Given the description of an element on the screen output the (x, y) to click on. 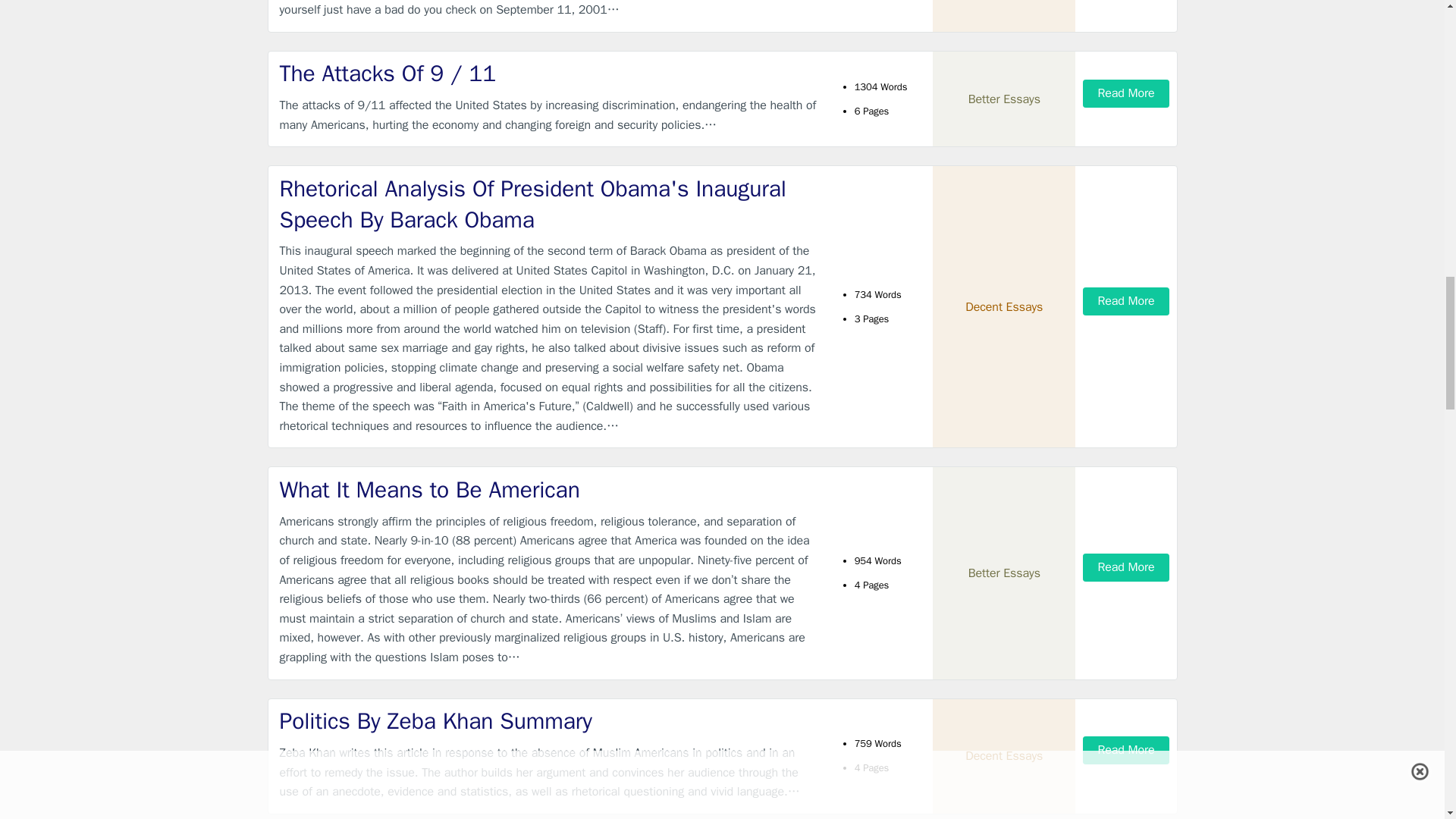
Read More (1126, 93)
Read More (1126, 567)
Read More (1126, 750)
Read More (1126, 301)
What It Means to Be American (548, 490)
Politics By Zeba Khan Summary (548, 721)
